Given the description of an element on the screen output the (x, y) to click on. 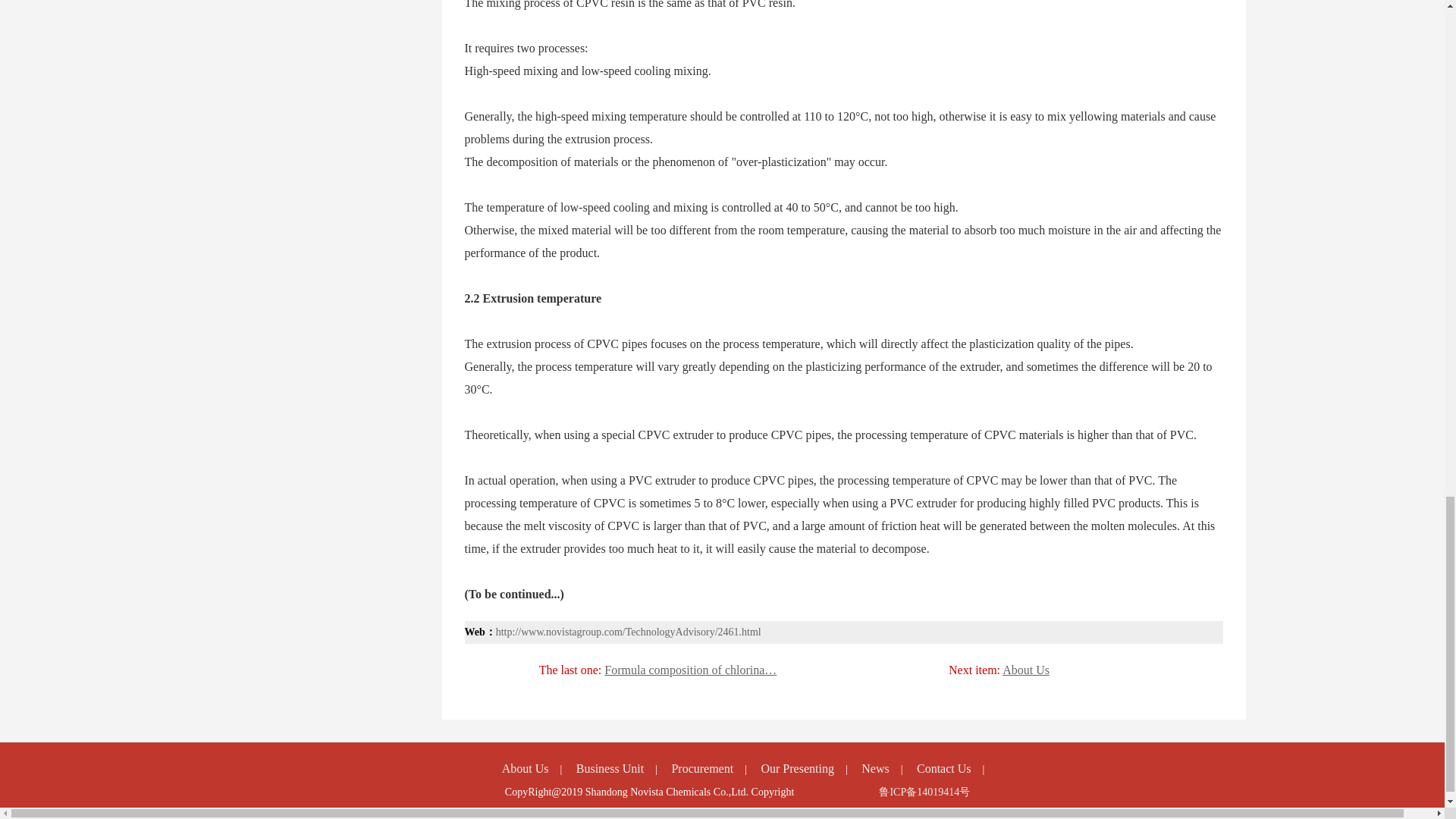
Our Presenting (796, 768)
About Us (1026, 669)
Business Unit (609, 768)
About Us (525, 768)
Contact Us (944, 768)
Procurement (702, 768)
About Us (1026, 669)
News (874, 768)
